Given the description of an element on the screen output the (x, y) to click on. 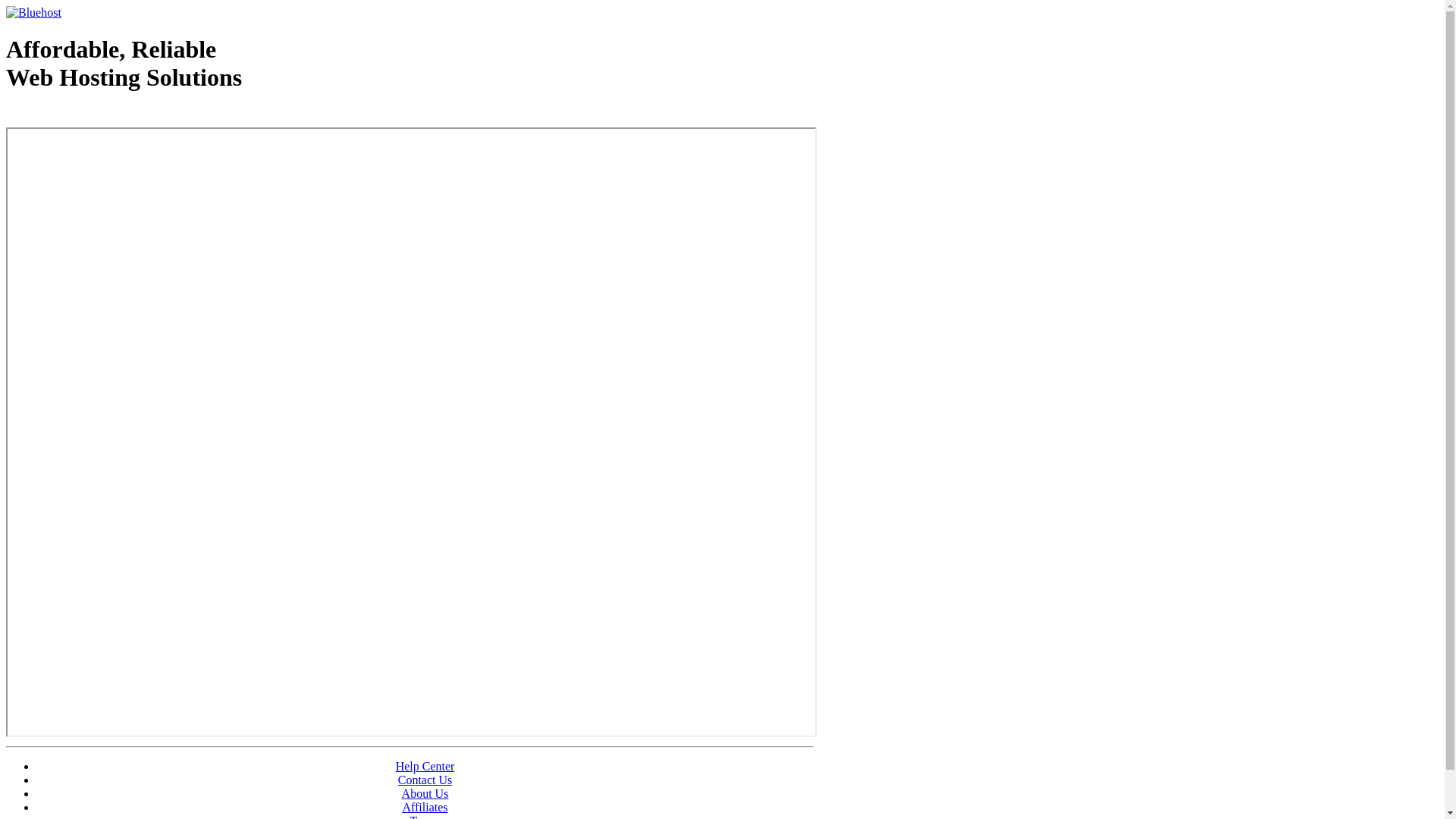
Web Hosting - courtesy of www.bluehost.com Element type: text (94, 115)
Affiliates Element type: text (424, 806)
About Us Element type: text (424, 793)
Contact Us Element type: text (425, 779)
Help Center Element type: text (425, 765)
